Given the description of an element on the screen output the (x, y) to click on. 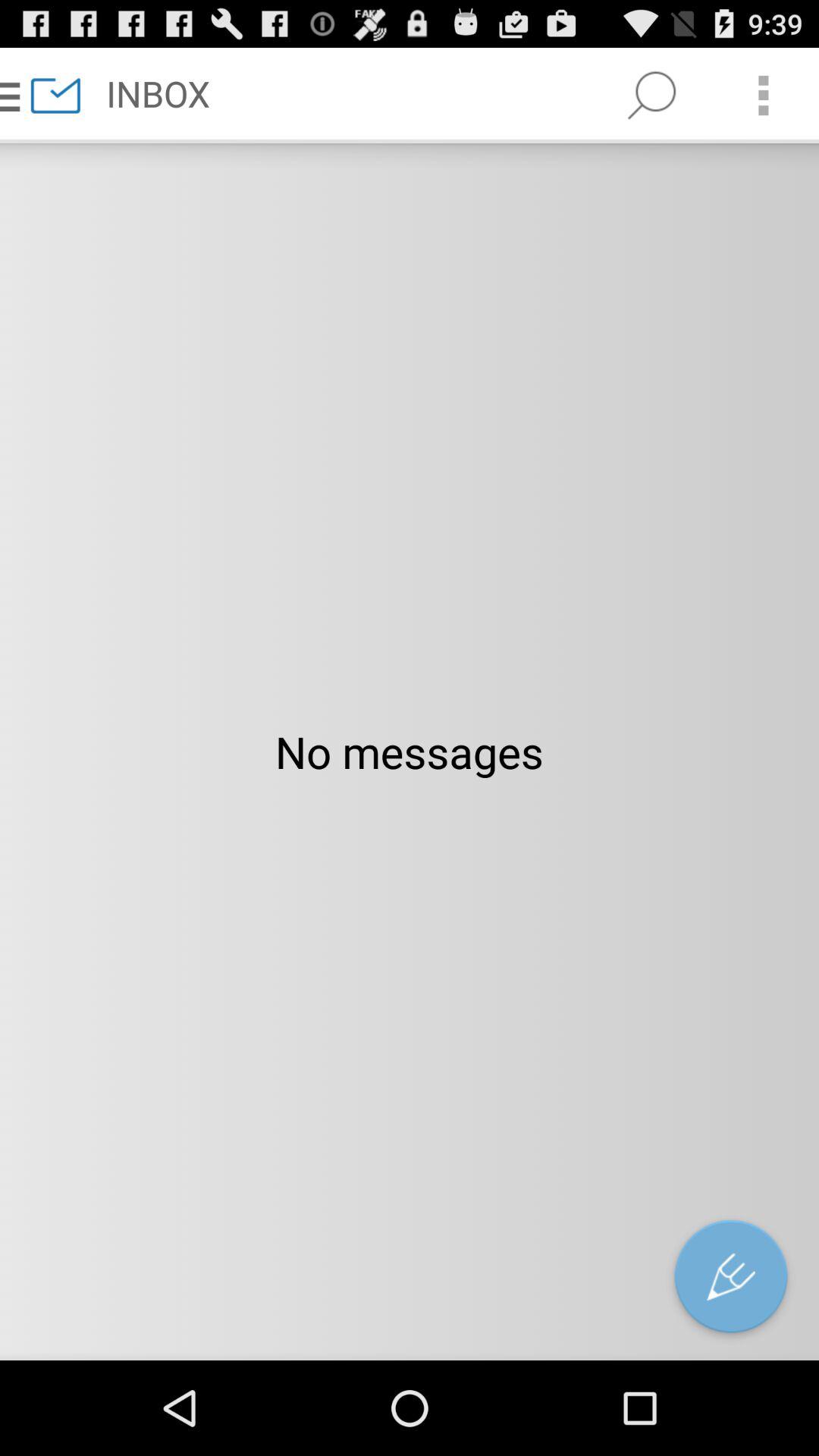
turn off the icon at the bottom right corner (730, 1280)
